Given the description of an element on the screen output the (x, y) to click on. 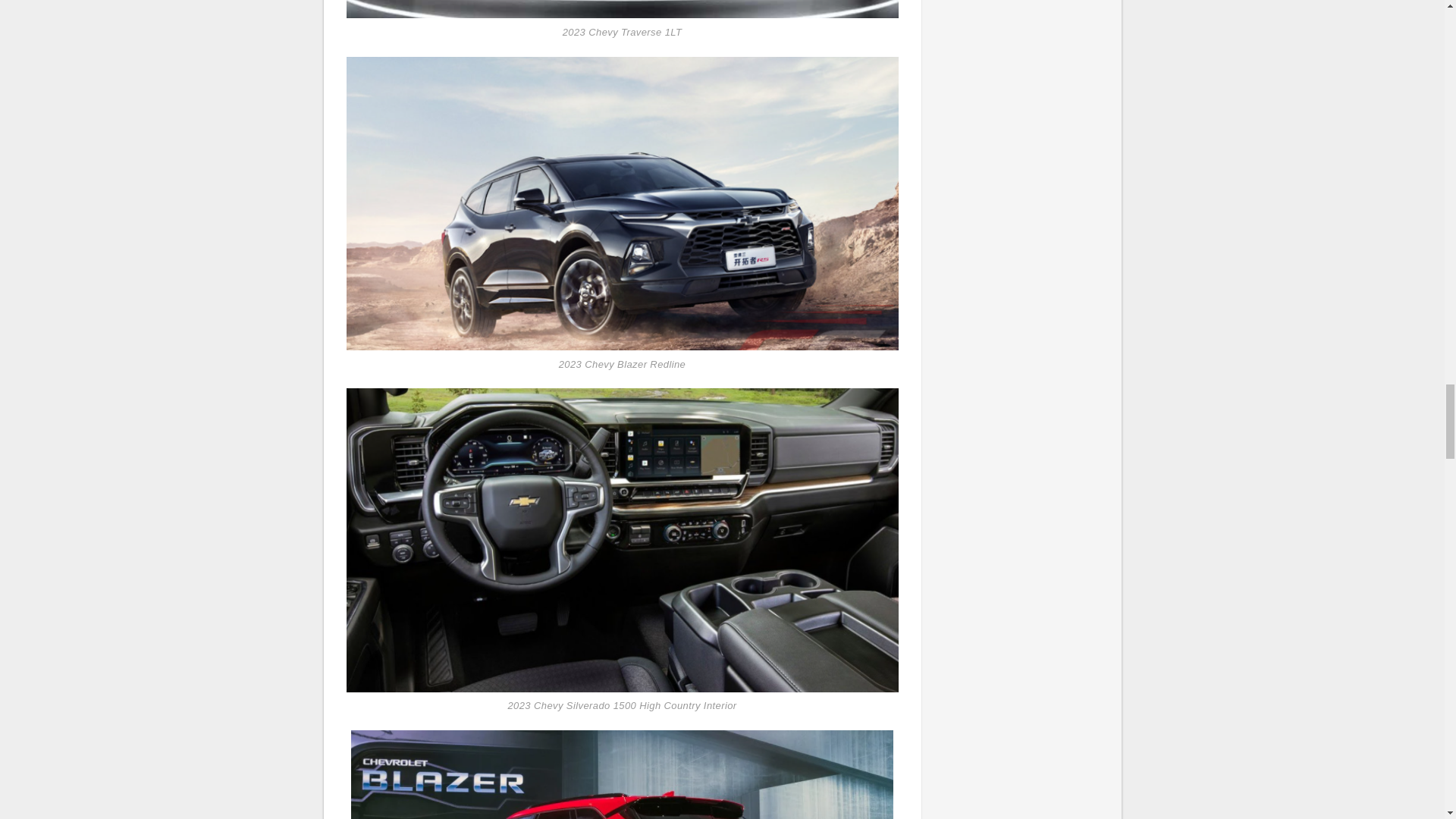
2023 Chevy Blazer Redline (622, 202)
2023 Chevy Traverse 1LT (622, 9)
2023 Chevy Blazer Redline Redesign (621, 774)
2023 Chevy Silverado 1500 High Country Interior (622, 539)
